Given the description of an element on the screen output the (x, y) to click on. 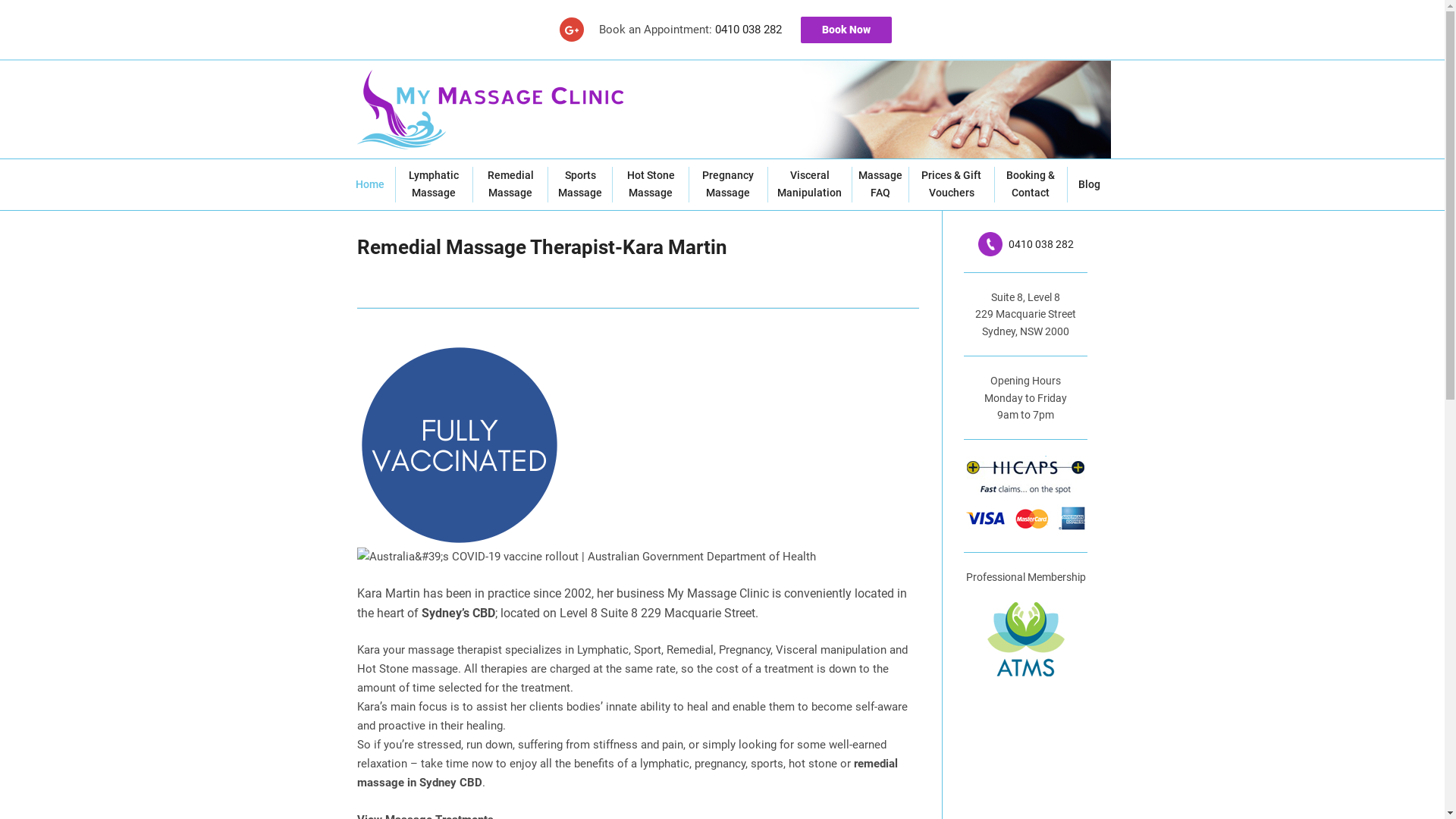
Blog Element type: text (1089, 184)
0410 038 282 Element type: text (1025, 244)
Booking & Contact Element type: text (1030, 183)
Remedial Massage Element type: text (510, 183)
Skip to content Element type: text (0, 0)
0410 038 282 Element type: text (747, 29)
Sports Massage Element type: text (579, 183)
Visceral Manipulation Element type: text (809, 183)
Home Element type: text (368, 184)
Pregnancy Massage Element type: text (728, 183)
Massage FAQ Element type: text (880, 183)
Lymphatic Massage Element type: text (433, 183)
Hot Stone Massage Element type: text (650, 183)
Google+ Element type: text (571, 29)
Book Now Element type: text (845, 29)
Prices & Gift Vouchers Element type: text (951, 183)
